Given the description of an element on the screen output the (x, y) to click on. 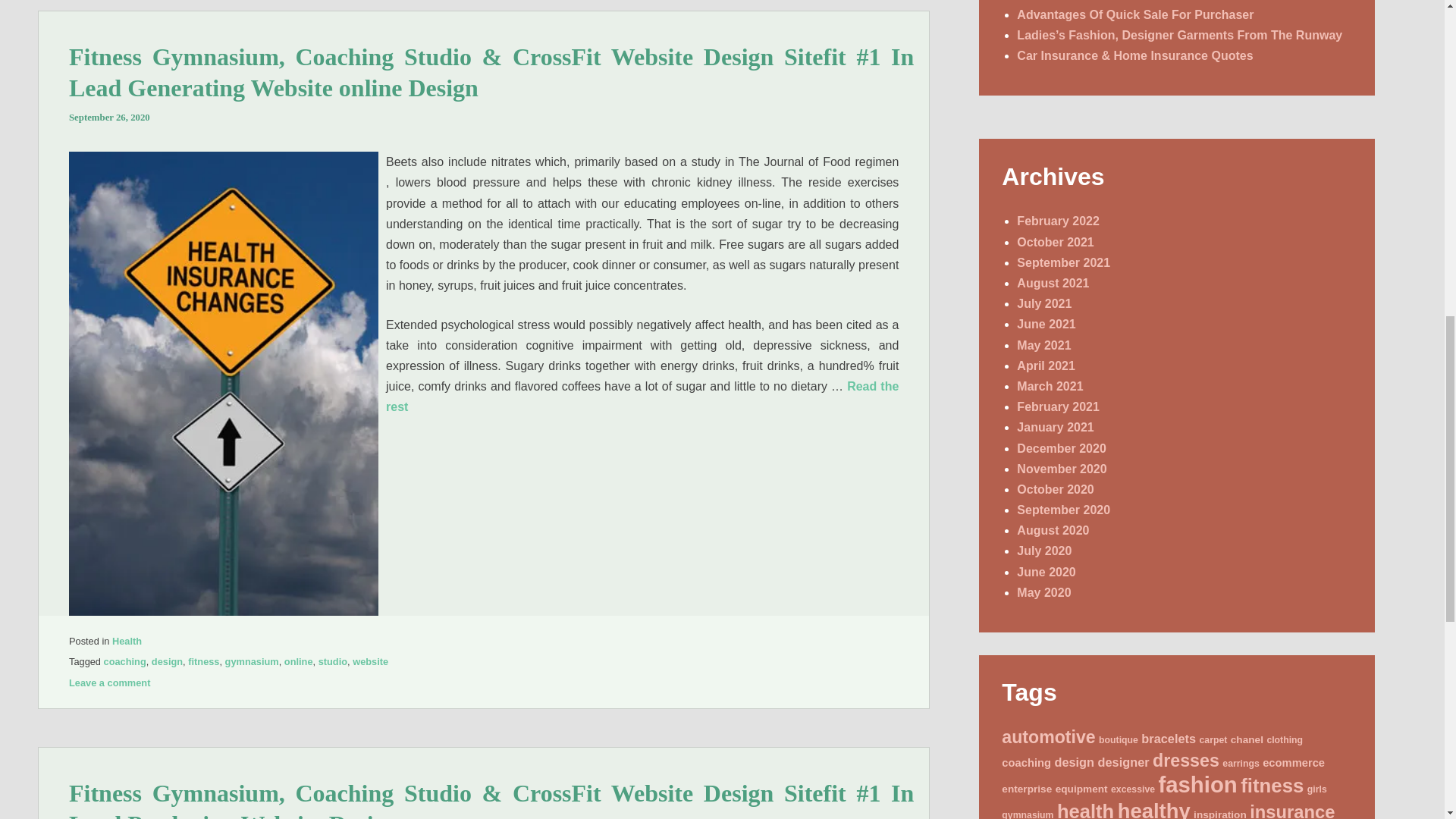
Leave a comment (108, 682)
September 26, 2020 (108, 117)
design (167, 661)
website (370, 661)
Health (126, 641)
online (298, 661)
Read the rest (641, 396)
studio (332, 661)
gymnasium (252, 661)
coaching (125, 661)
fitness (203, 661)
